Given the description of an element on the screen output the (x, y) to click on. 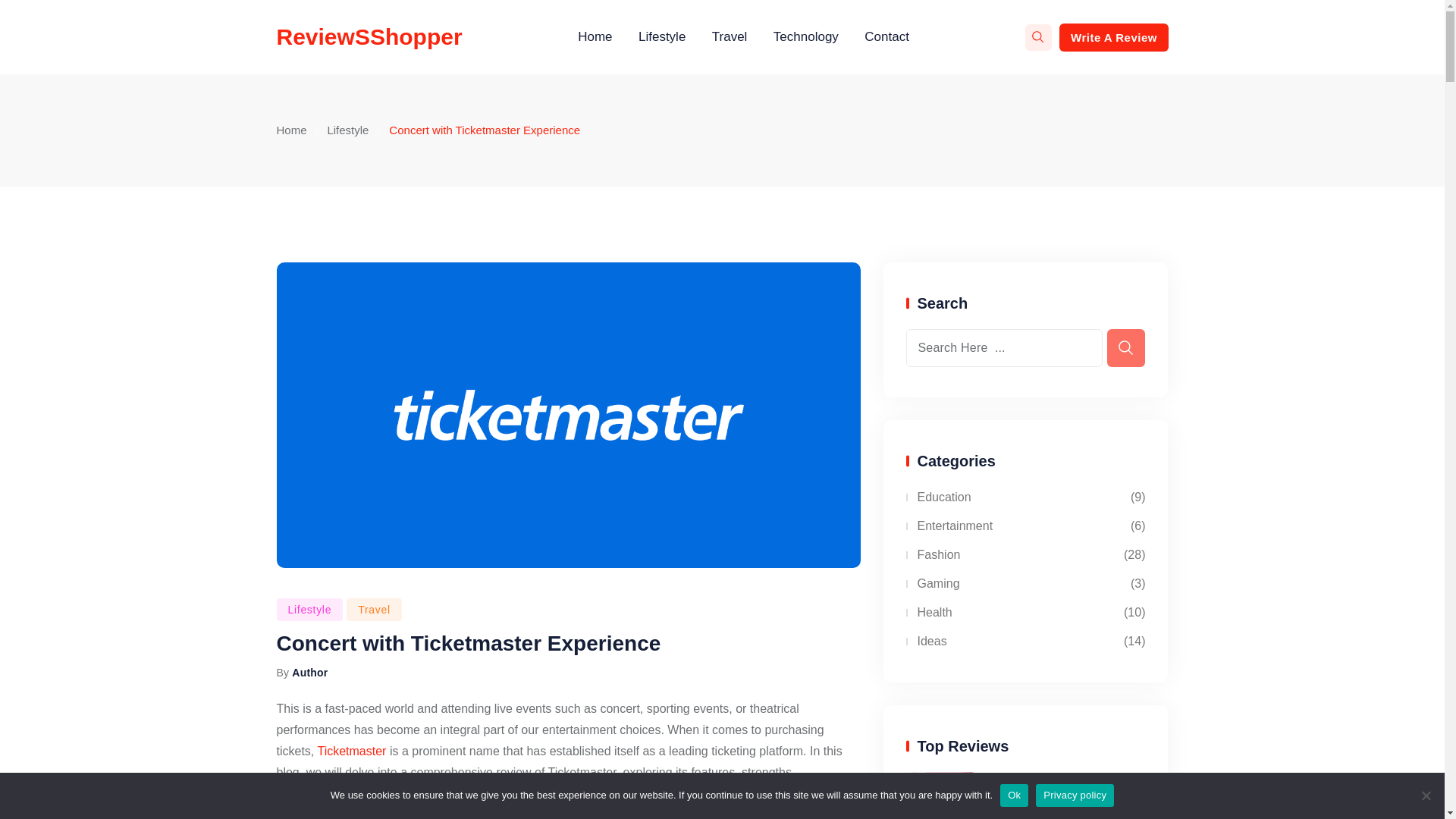
Lifestyle (309, 609)
Ticketmaster (351, 750)
Lifestyle (662, 37)
Posts by Author (309, 672)
Technology (805, 37)
Author (309, 672)
Travel (373, 609)
ReviewSShopper (368, 36)
Contact (886, 37)
Search (1038, 37)
Write A Review (1112, 36)
Lifestyle (347, 129)
Home (290, 129)
